Given the description of an element on the screen output the (x, y) to click on. 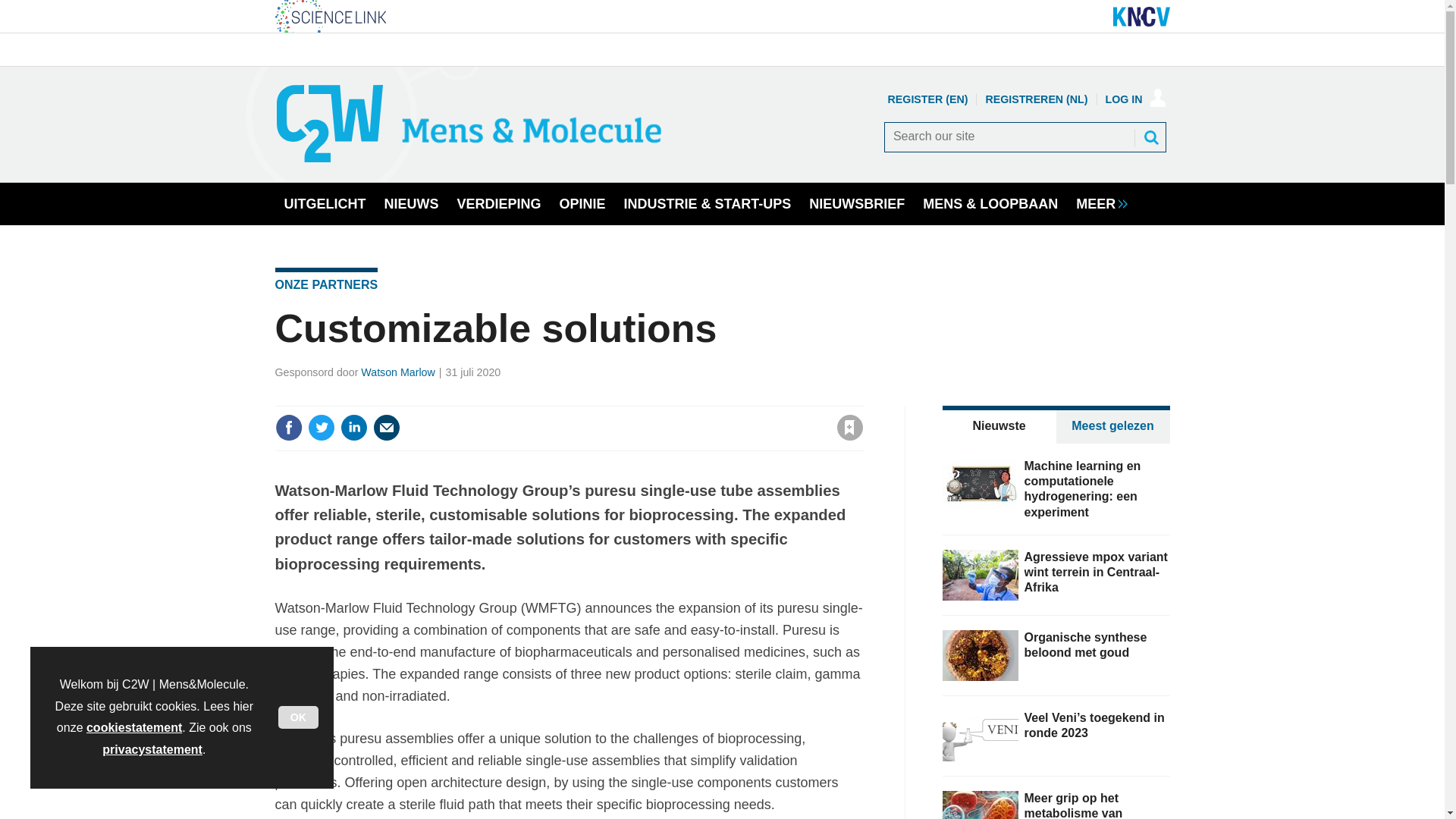
E-mail dit artikel (386, 427)
Share this on Twitter (320, 427)
LOG IN (1135, 99)
Share this on Facebook (288, 427)
Share this on Linked in (352, 427)
cookiestatement (133, 727)
OK (298, 716)
privacystatement (151, 748)
SEARCH (1150, 137)
